Given the description of an element on the screen output the (x, y) to click on. 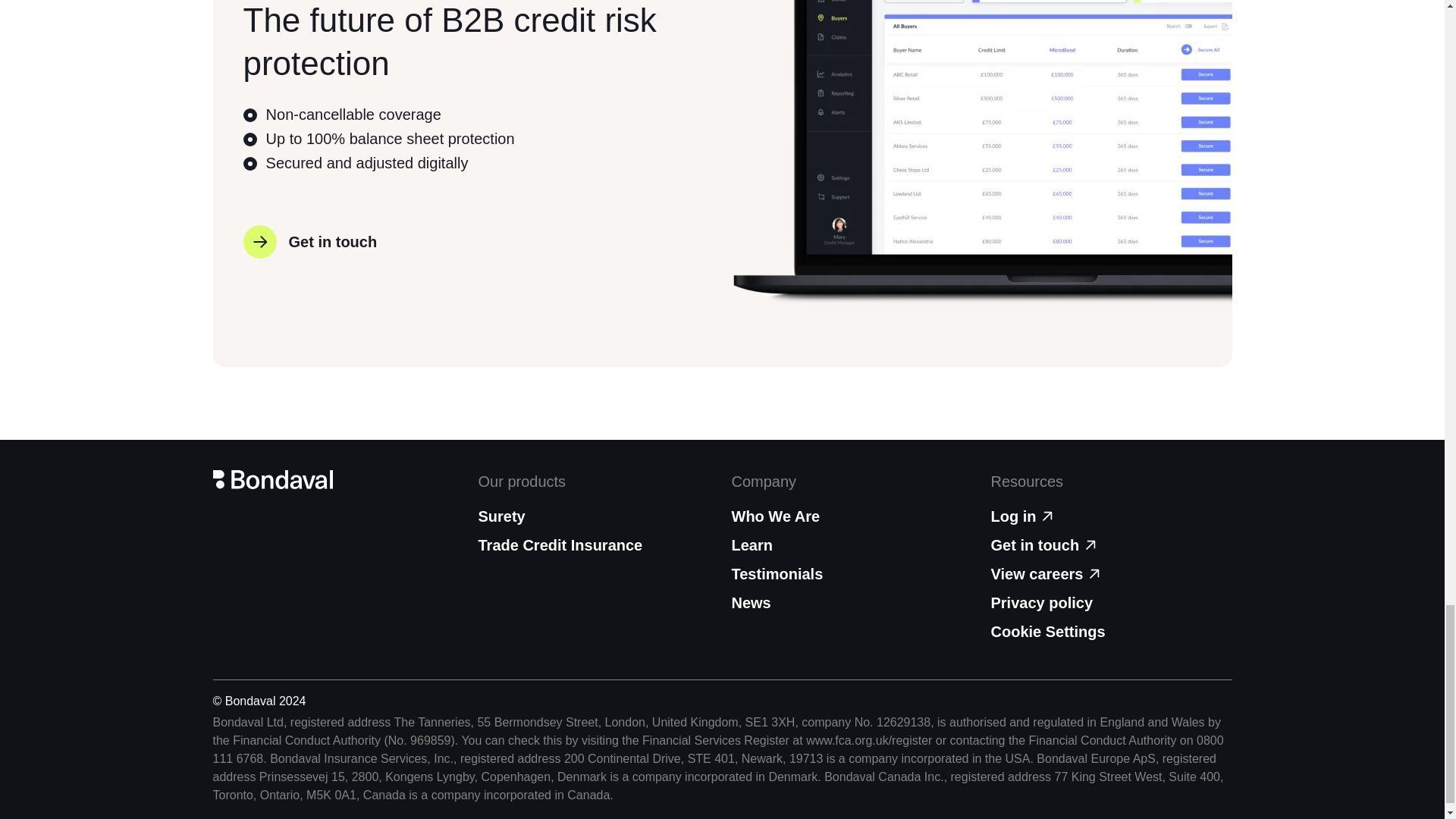
View careers (1110, 573)
Trade Credit Insurance (559, 545)
Log in (1110, 516)
Get in touch (310, 241)
Privacy policy (1110, 602)
Cookie Settings (1047, 630)
Testimonials (851, 573)
Who We Are (851, 516)
Get in touch (1110, 544)
Learn (851, 544)
